Given the description of an element on the screen output the (x, y) to click on. 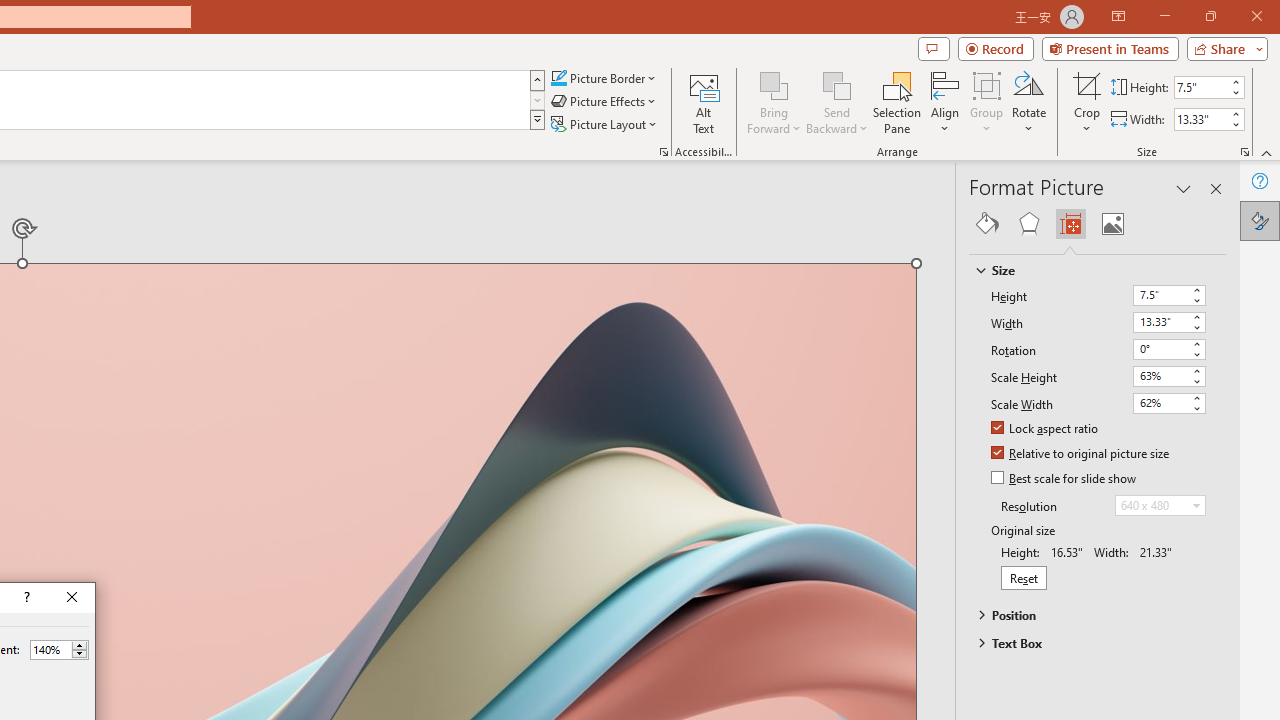
Fill & Line (987, 223)
Picture Layout (605, 124)
Scale Width (1160, 402)
Class: NetUIGalleryContainer (1098, 223)
Bring Forward (773, 102)
Rotate (1028, 102)
Resolution (1159, 505)
